Given the description of an element on the screen output the (x, y) to click on. 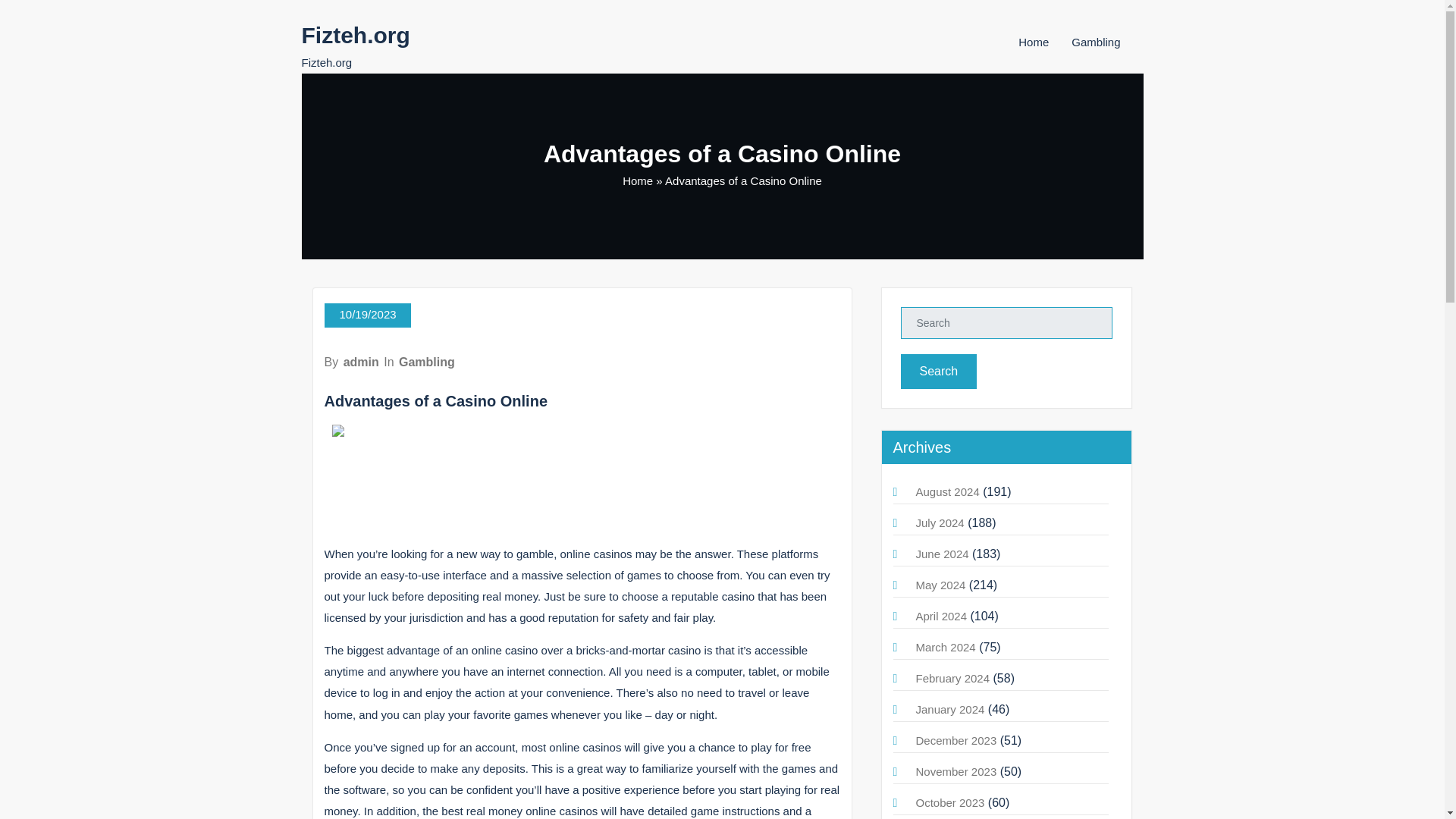
February 2024 (952, 677)
June 2024 (942, 553)
Fizteh.org (355, 34)
May 2024 (940, 584)
Home (1032, 41)
April 2024 (941, 615)
Gambling (427, 361)
Gambling (1095, 41)
Home (637, 180)
October 2023 (950, 802)
